Given the description of an element on the screen output the (x, y) to click on. 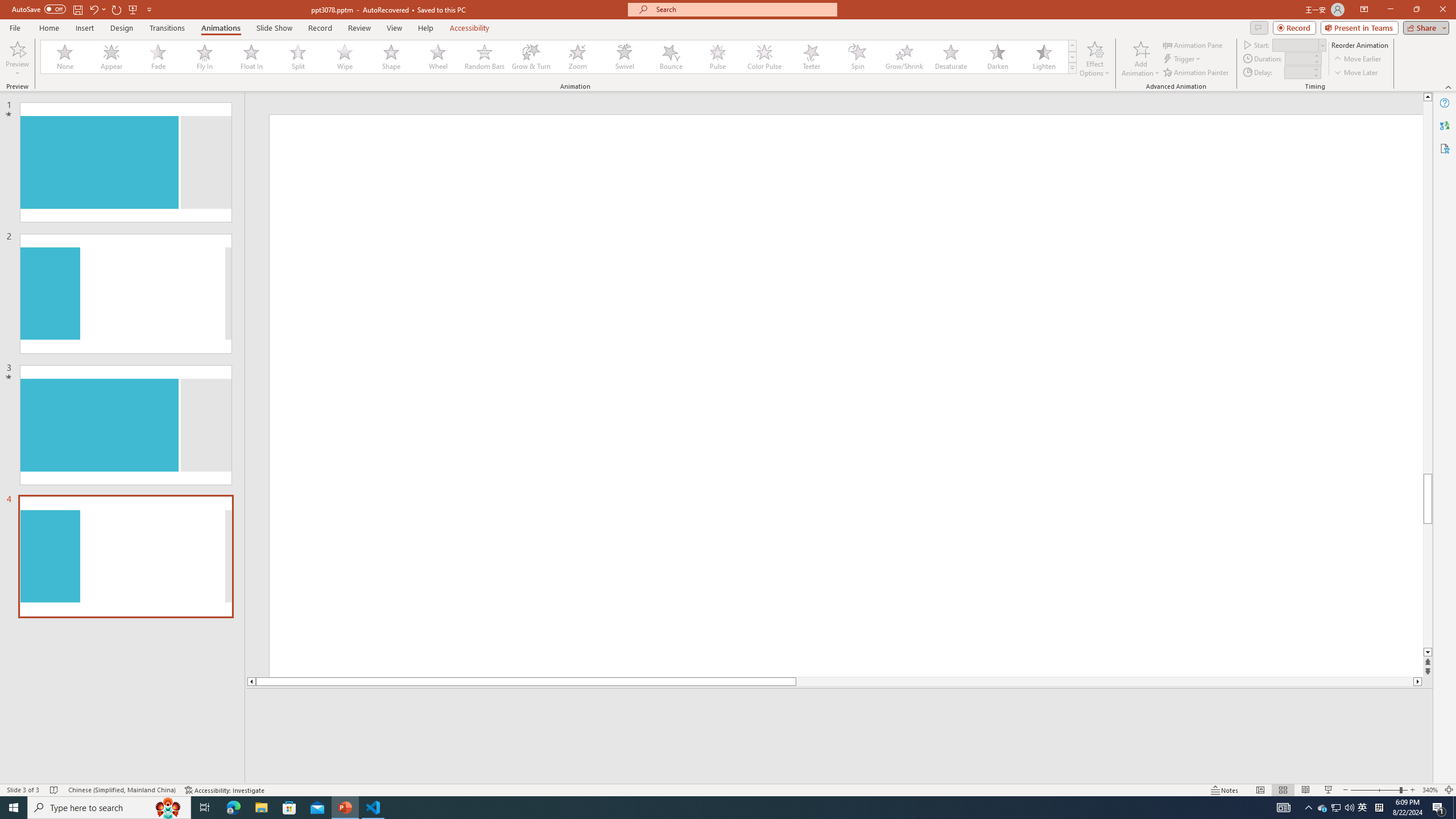
Animation Painter (1196, 72)
Swivel (624, 56)
Teeter (810, 56)
Effect Options (1094, 58)
